Given the description of an element on the screen output the (x, y) to click on. 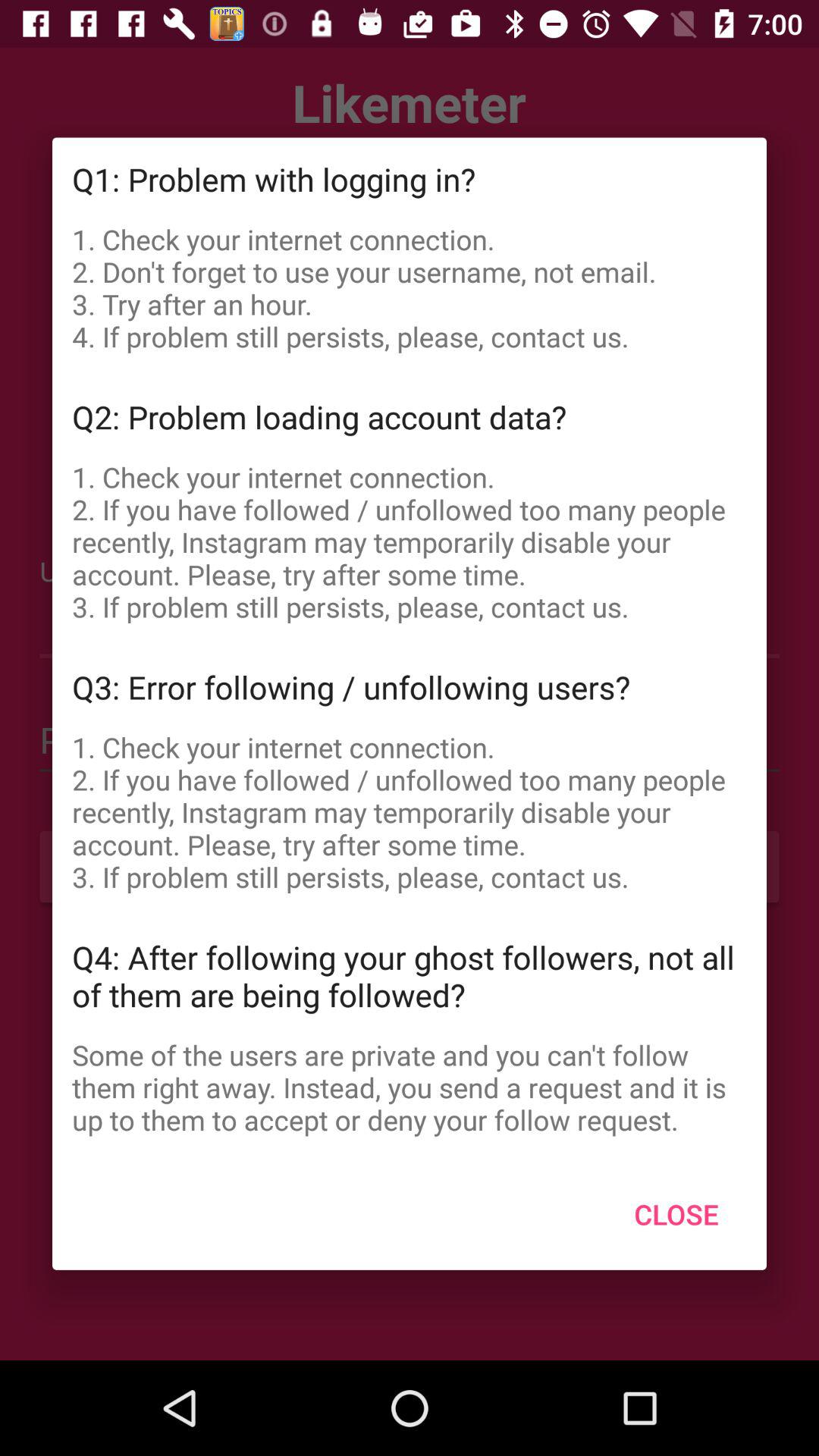
click the close item (676, 1214)
